Given the description of an element on the screen output the (x, y) to click on. 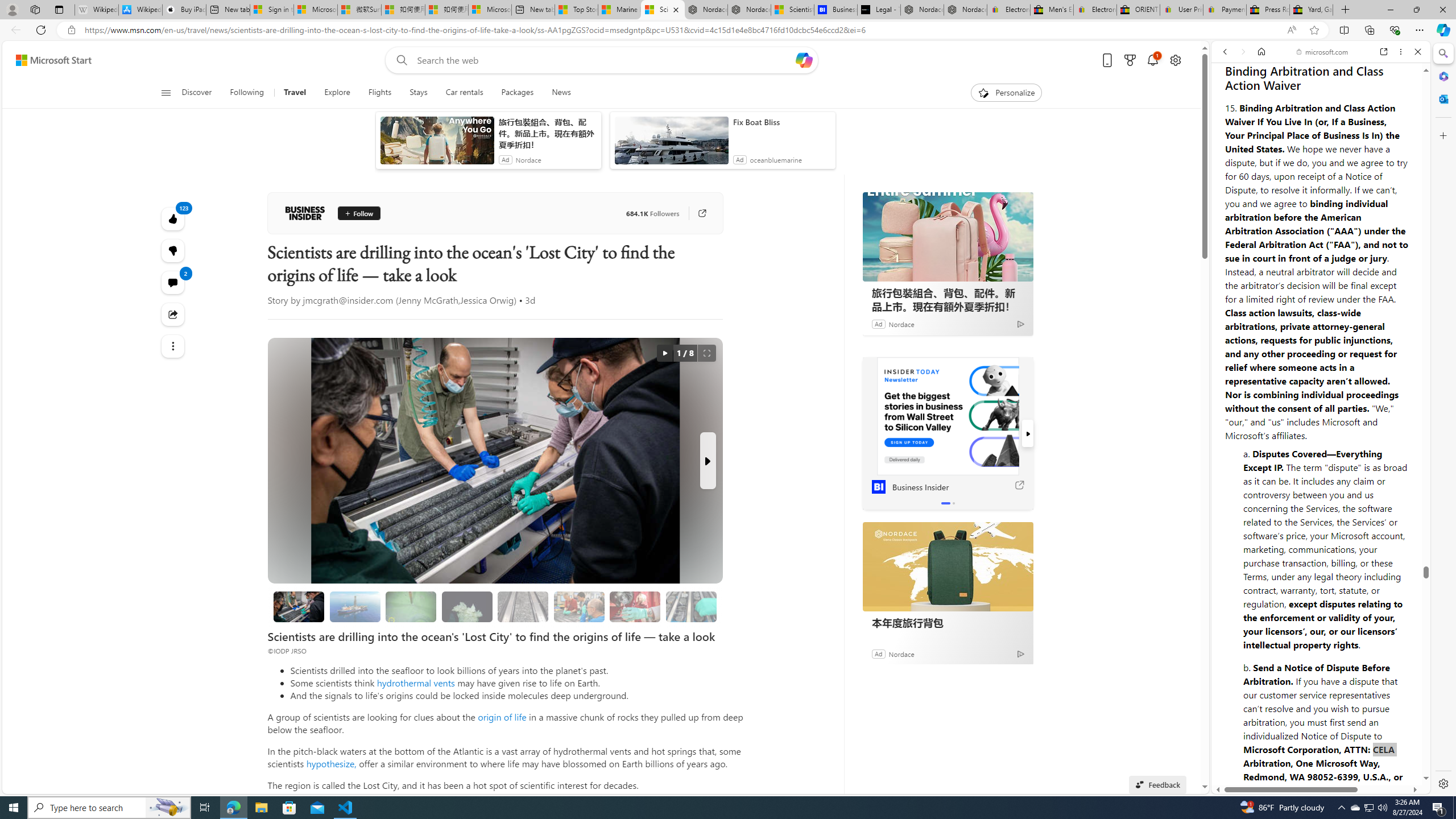
Open navigation menu (164, 92)
Open Copilot (803, 59)
Ad Choice (1020, 653)
Home (1261, 51)
To get missing image descriptions, open the context menu. (983, 92)
Stays (418, 92)
The Lost City could hold clues to the origin of life. (466, 606)
123 Like (172, 218)
Feedback (1384, 751)
Flights (379, 92)
Skip to content (49, 59)
